Given the description of an element on the screen output the (x, y) to click on. 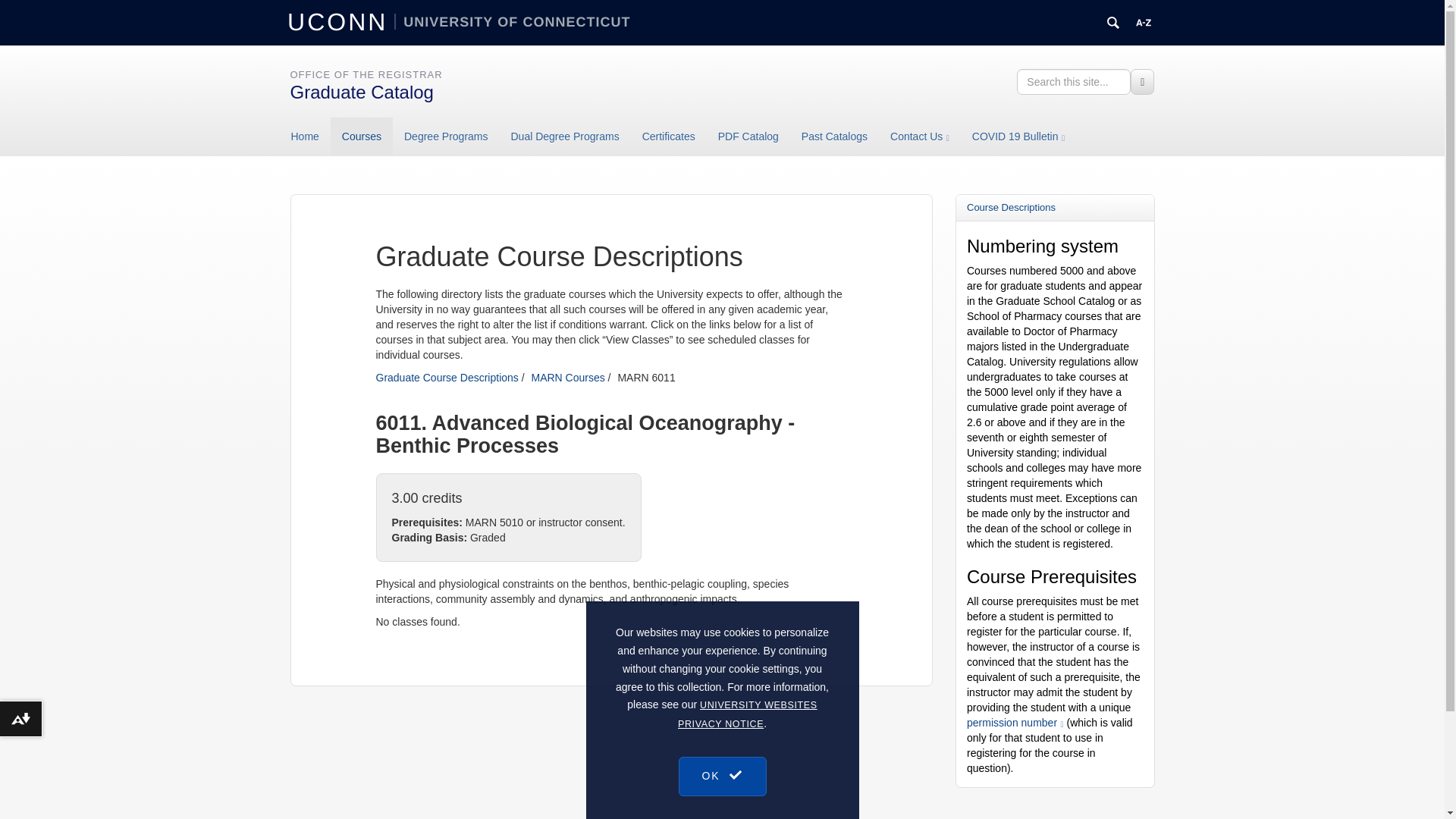
Graduate Catalog (360, 91)
Search (1142, 81)
UCONN (340, 21)
Home (310, 136)
UConn A to Z Index (1143, 22)
UNIVERSITY OF CONNECTICUT (512, 21)
MARN Courses (567, 377)
Degree Programs (446, 136)
PDF Catalog (748, 136)
